Given the description of an element on the screen output the (x, y) to click on. 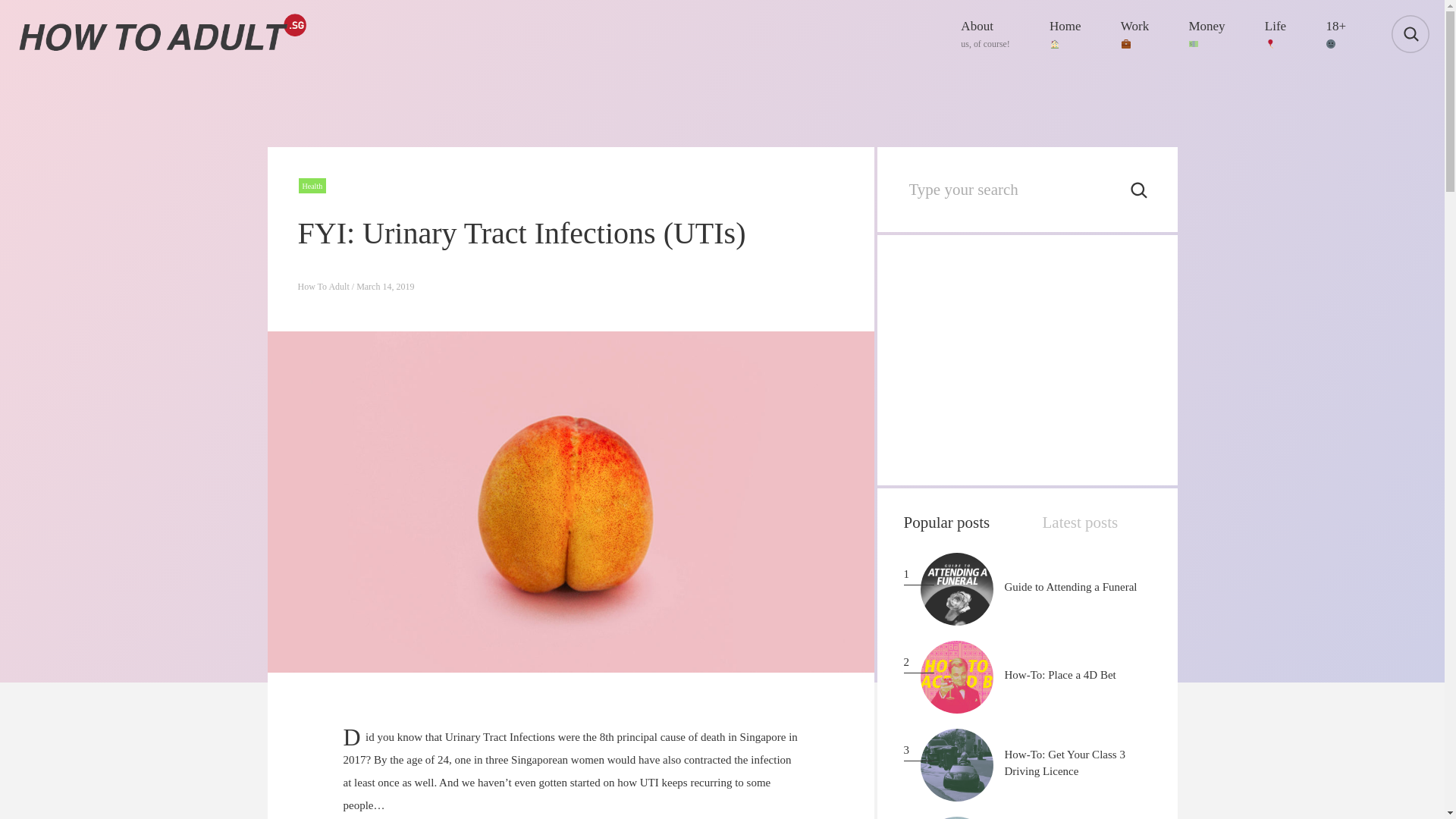
Life (1272, 34)
Money (1203, 34)
Type your search (1014, 189)
Advertisement (1070, 586)
March 14, 2019 (1027, 360)
How To Adult (384, 286)
Health (982, 34)
Work (1059, 674)
Home (323, 286)
